Given the description of an element on the screen output the (x, y) to click on. 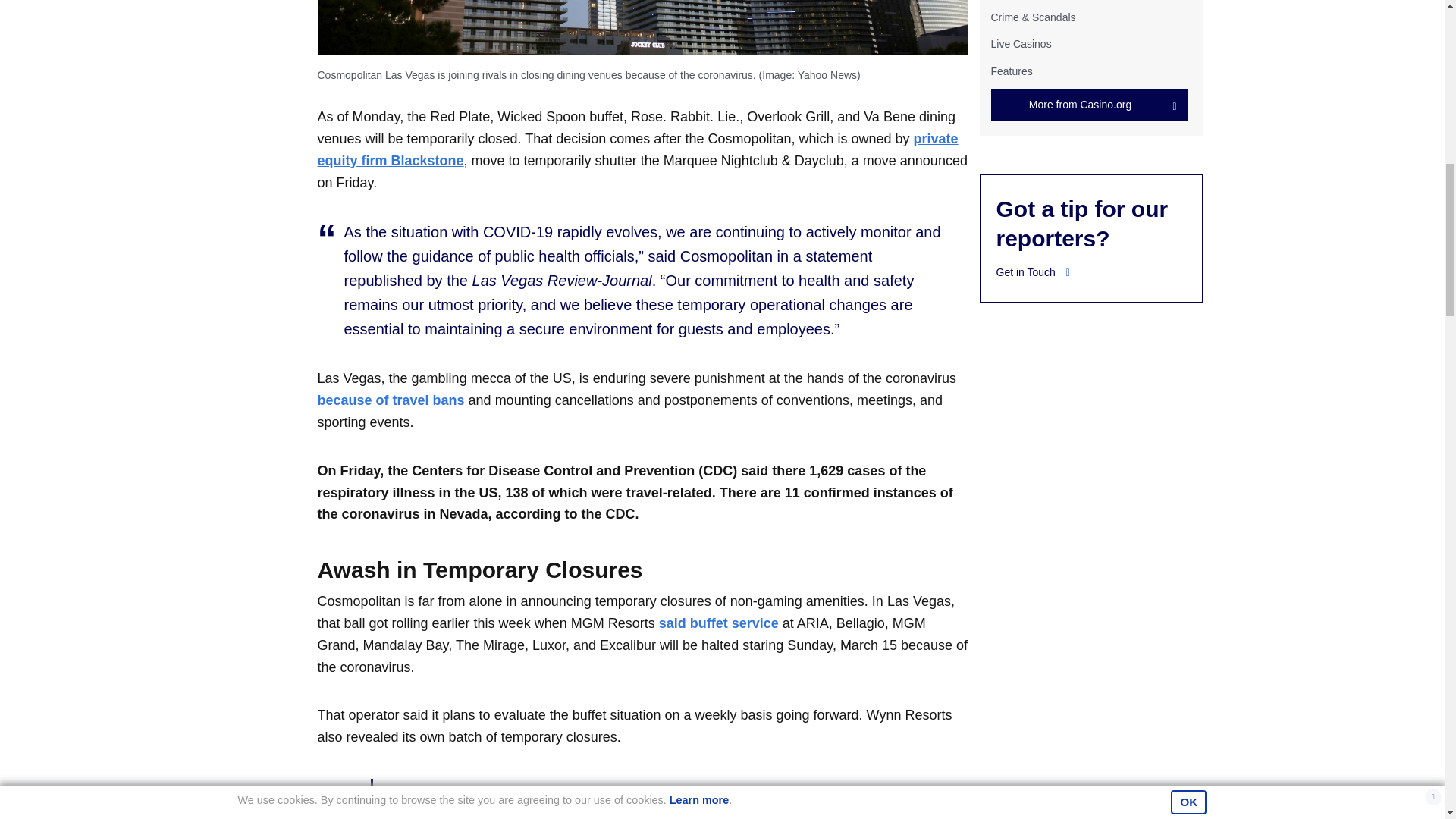
said buffet service (718, 622)
Features (1011, 70)
because of travel bans (390, 400)
private equity firm Blackstone (637, 149)
Live Casinos (1020, 43)
